Given the description of an element on the screen output the (x, y) to click on. 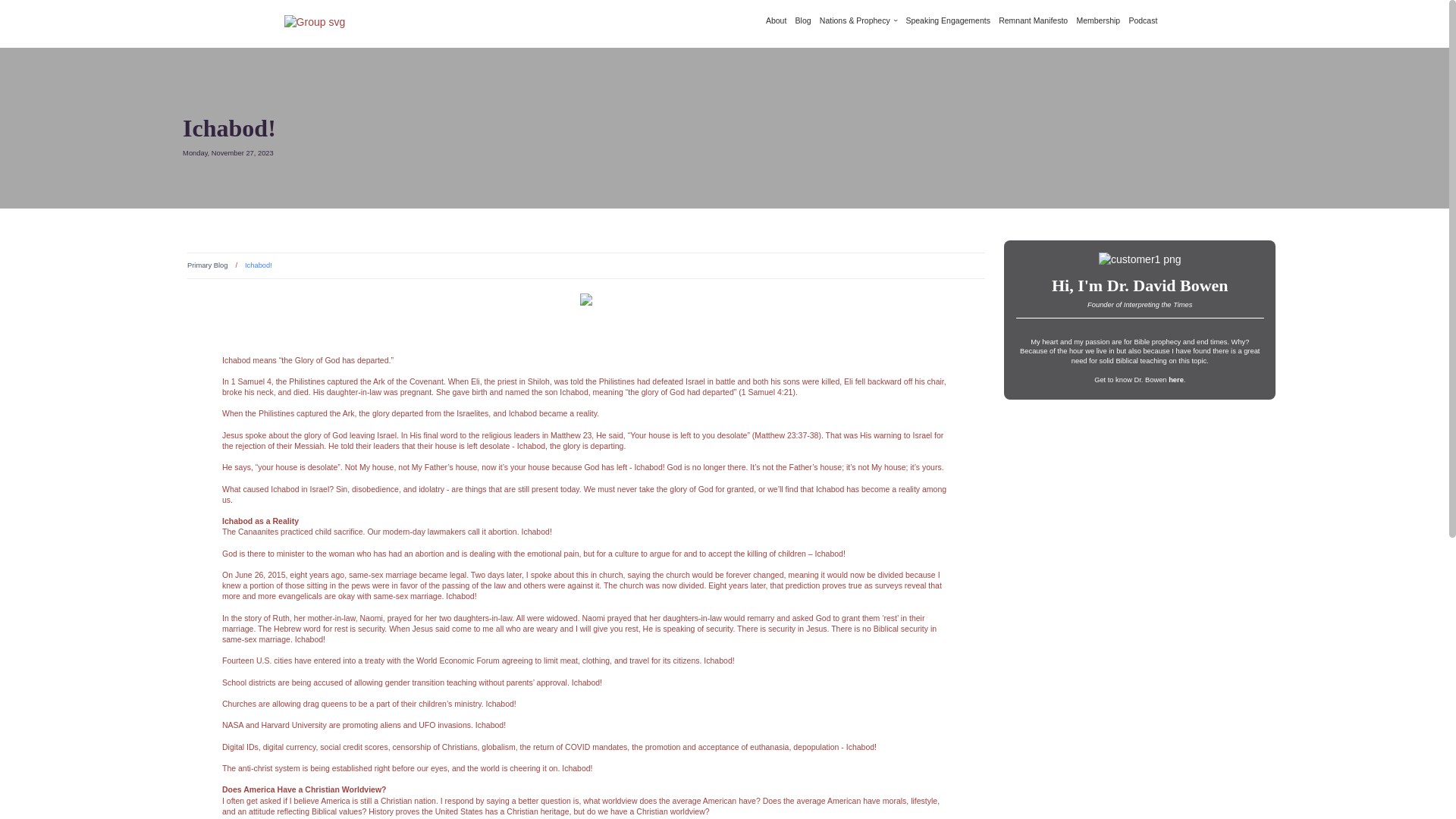
Speaking Engagements (947, 20)
here (1176, 379)
Ichabod! (724, 128)
Blog (802, 20)
Podcast (1142, 20)
Primary Blog (207, 266)
Monday, November 27, 2023 (724, 164)
Membership (1097, 20)
About (775, 20)
Remnant Manifesto (1032, 20)
